Given the description of an element on the screen output the (x, y) to click on. 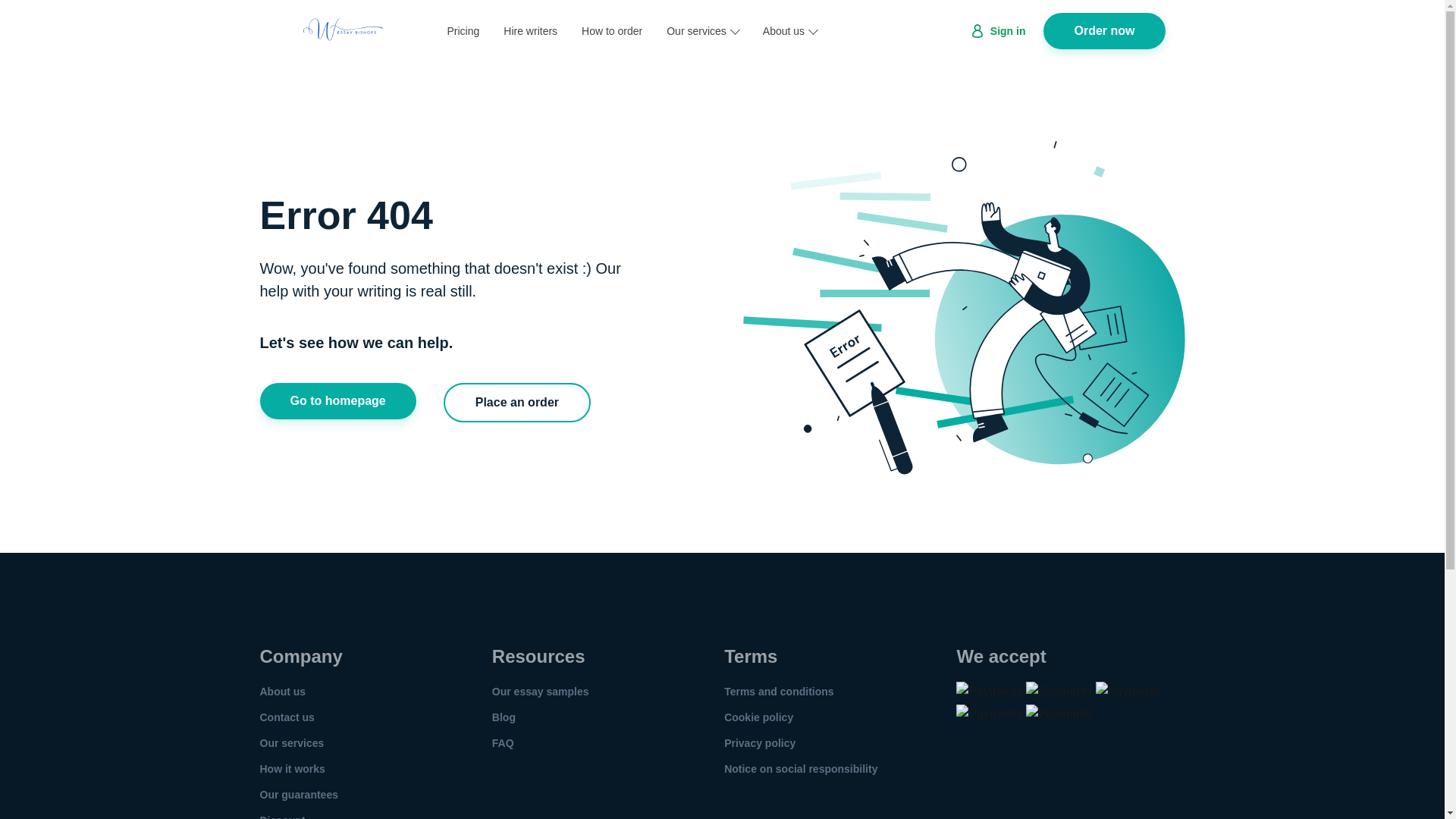
Order now (1103, 31)
How it works (291, 768)
How to order (611, 30)
Blog (503, 717)
Terms and conditions (777, 691)
FAQ (502, 743)
Cookie policy (758, 717)
Go to homepage (336, 401)
Our essay samples (540, 691)
Our services (291, 743)
About us (282, 691)
About us (789, 30)
Discount (281, 816)
Privacy policy (758, 743)
Place an order (517, 402)
